Given the description of an element on the screen output the (x, y) to click on. 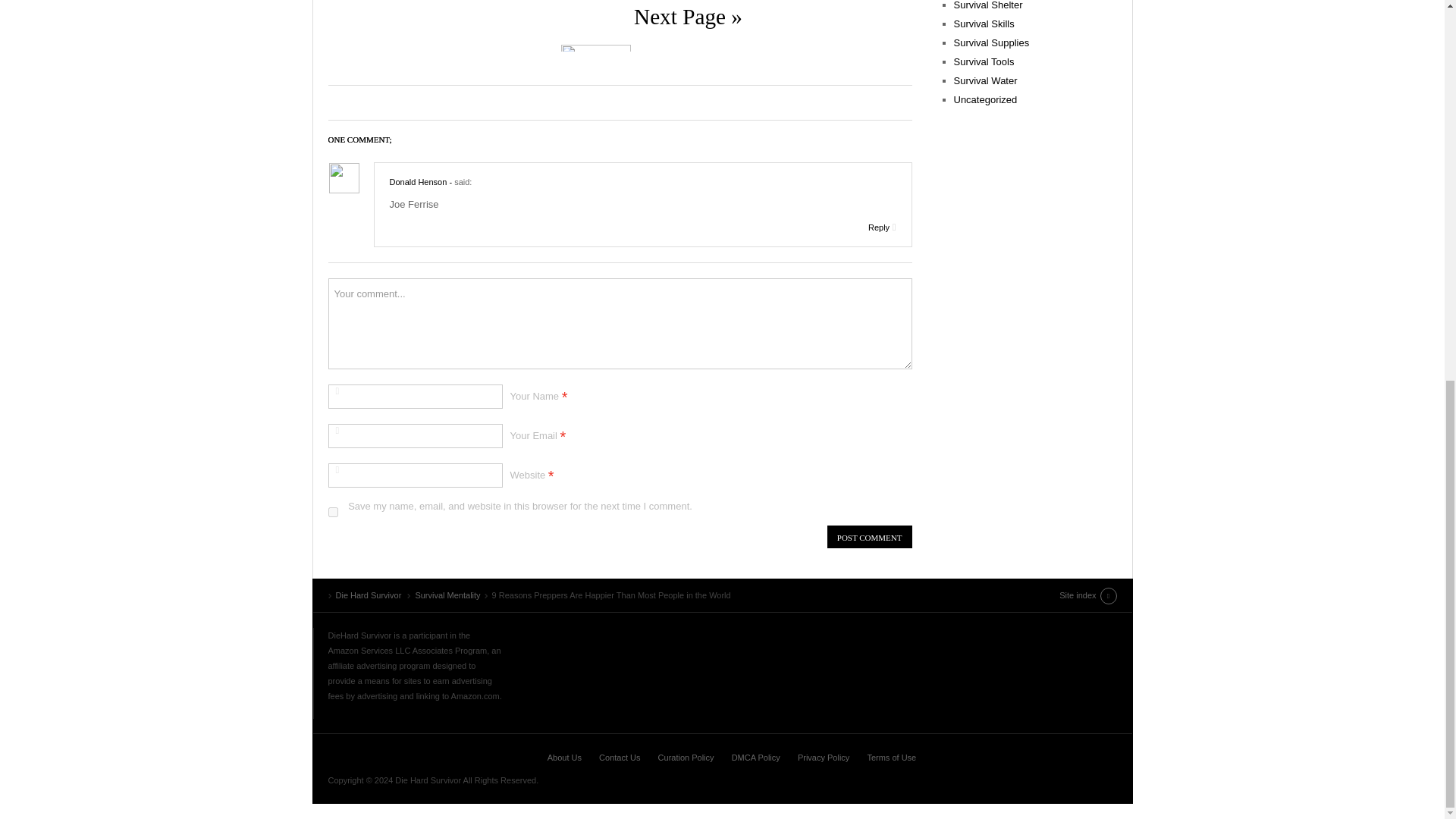
yes (332, 511)
Post Comment (869, 536)
